Given the description of an element on the screen output the (x, y) to click on. 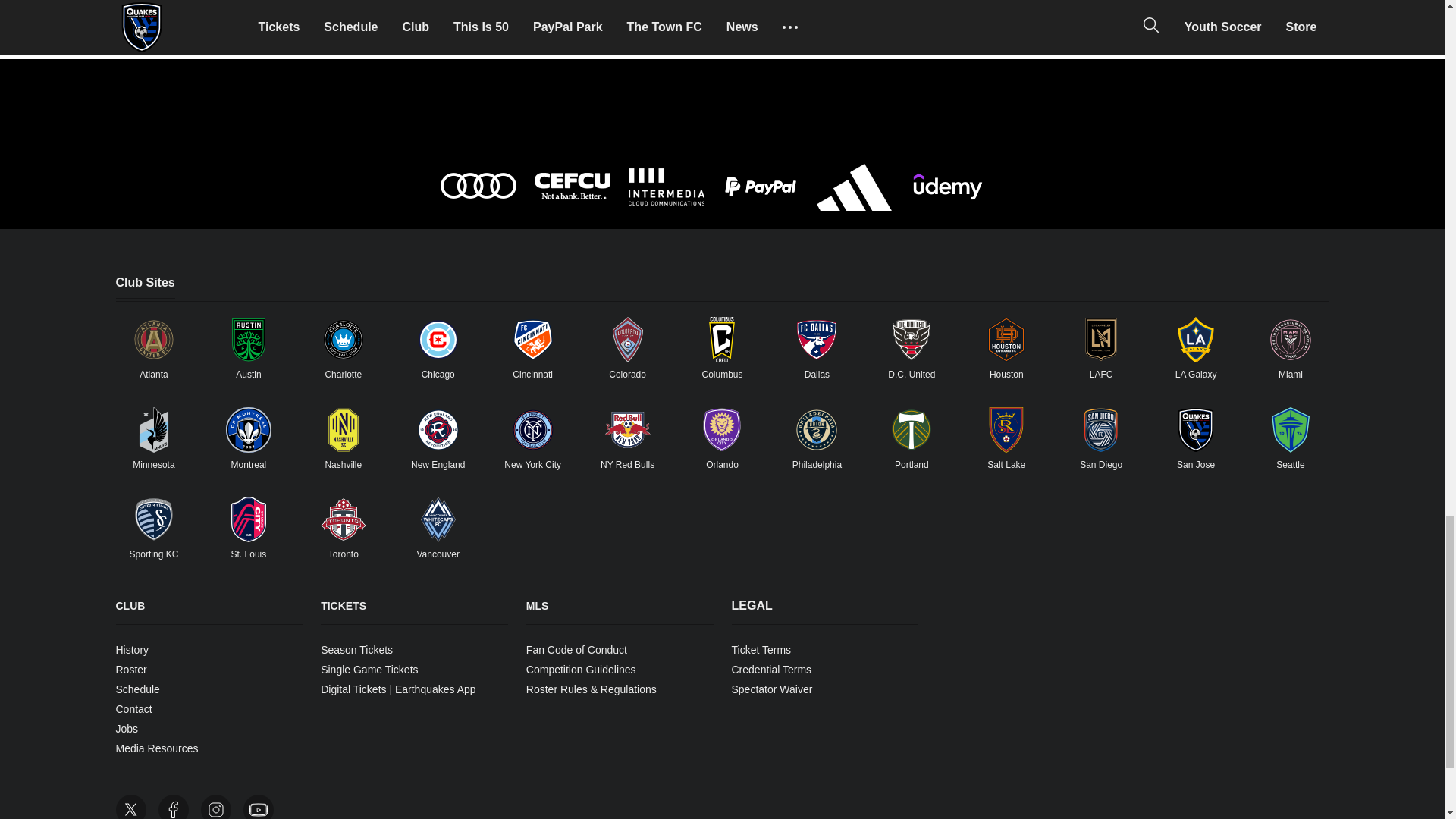
Link to LAFC (1101, 339)
Link to Montreal (247, 429)
Link to Minnesota (153, 429)
Link to Charlotte (343, 339)
Link to LA Galaxy (1195, 339)
Link to Chicago (437, 339)
Link to D.C. United (911, 339)
Link to Atlanta (153, 339)
Link to Dallas (816, 339)
Link to Colorado (627, 339)
